Given the description of an element on the screen output the (x, y) to click on. 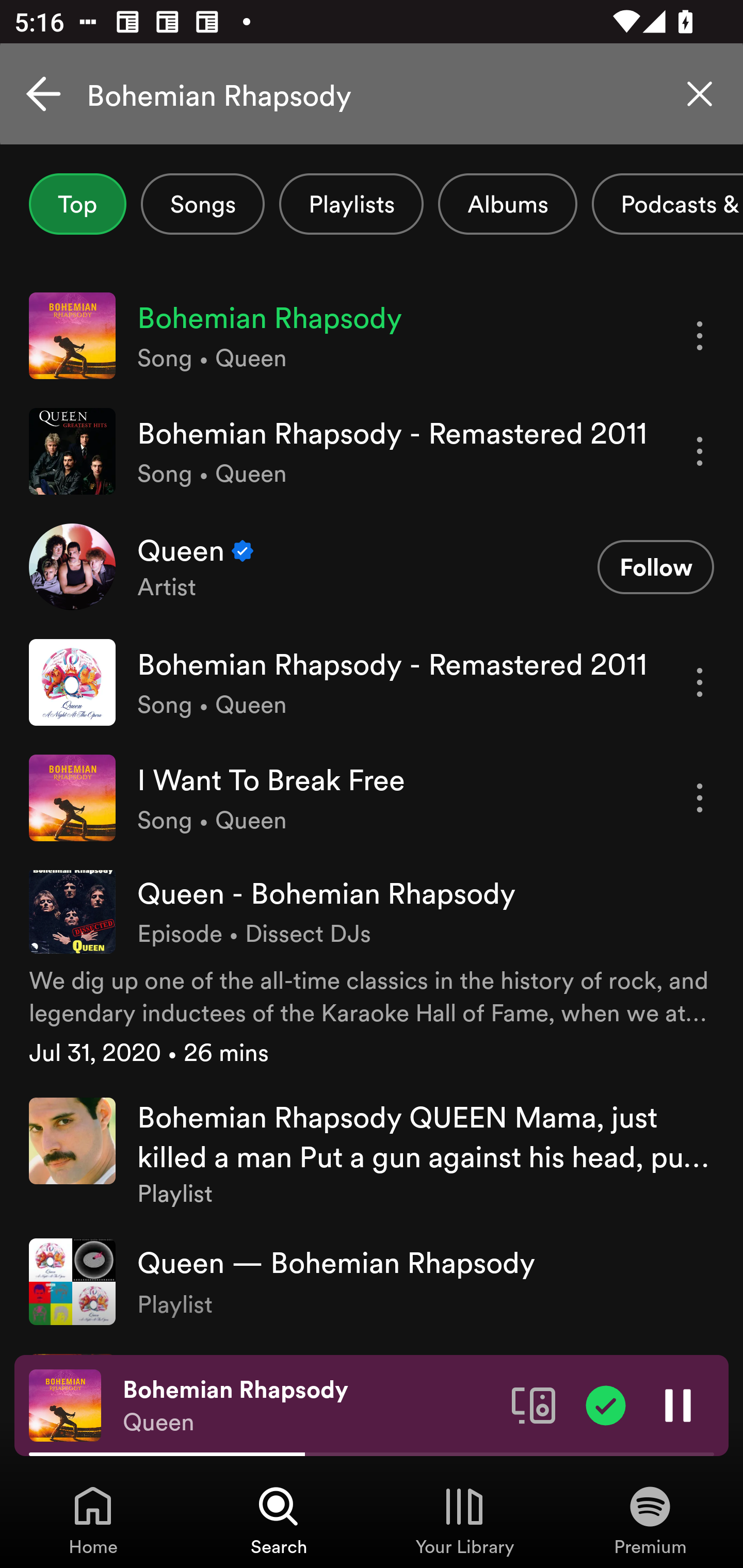
Bohemian Rhapsody (371, 93)
Cancel (43, 93)
Clear search query (699, 93)
Top (77, 203)
Songs (202, 203)
Playlists (351, 203)
Albums (507, 203)
Podcasts & Shows (667, 203)
More options for song Bohemian Rhapsody (699, 336)
Queen Verified Artist Follow Follow (371, 566)
Follow (655, 566)
More options for song I Want To Break Free (699, 798)
Queen — Bohemian Rhapsody Playlist (371, 1281)
Bohemian Rhapsody Queen (309, 1405)
The cover art of the currently playing track (64, 1404)
Connect to a device. Opens the devices menu (533, 1404)
Item added (605, 1404)
Pause (677, 1404)
Home, Tab 1 of 4 Home Home (92, 1519)
Search, Tab 2 of 4 Search Search (278, 1519)
Your Library, Tab 3 of 4 Your Library Your Library (464, 1519)
Premium, Tab 4 of 4 Premium Premium (650, 1519)
